Given the description of an element on the screen output the (x, y) to click on. 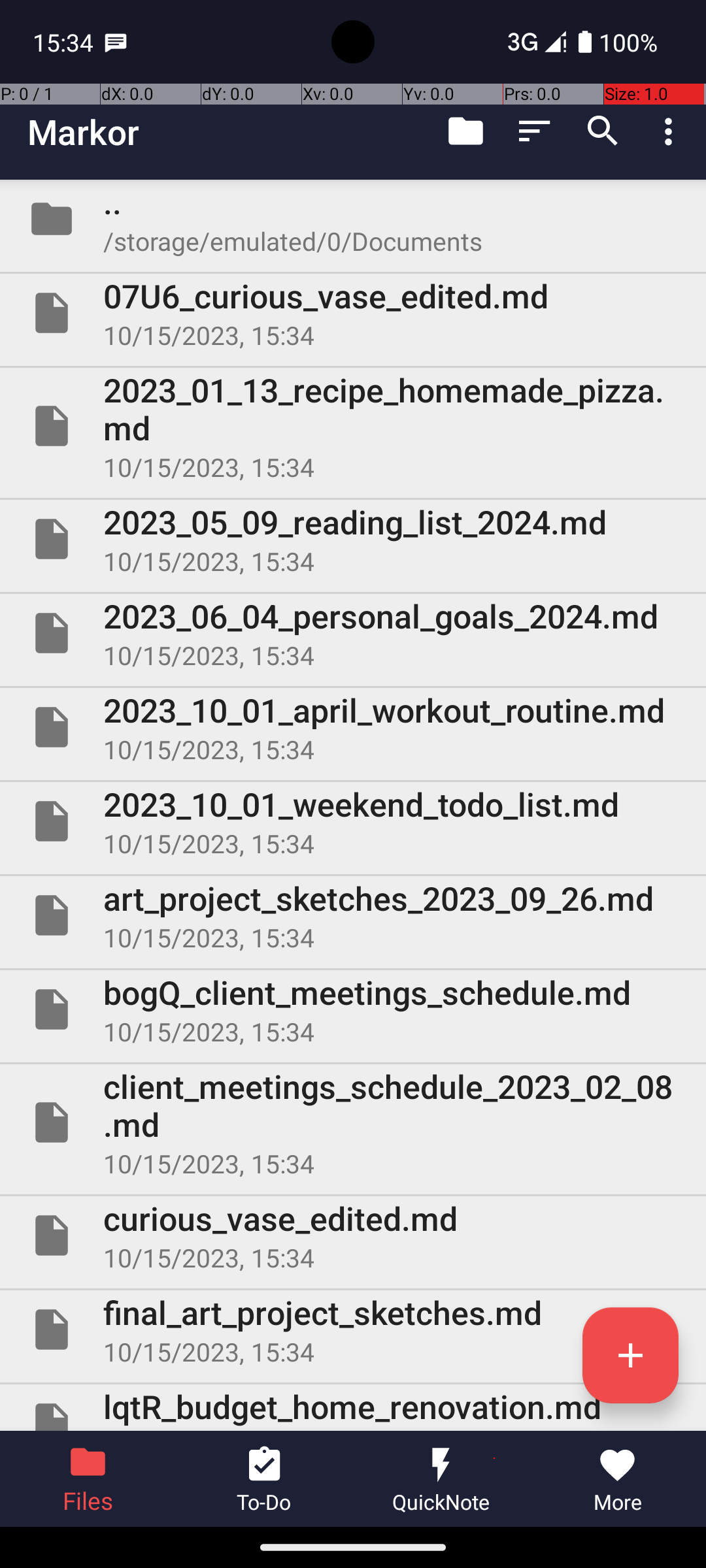
Create a new file or folder Element type: android.widget.ImageButton (630, 1355)
Go to Element type: android.widget.TextView (465, 131)
Sort by Element type: android.widget.TextView (534, 131)
To-Do Element type: android.widget.FrameLayout (264, 1478)
QuickNote Element type: android.widget.FrameLayout (441, 1478)
More Element type: android.widget.FrameLayout (617, 1478)
Folder ..  Element type: android.widget.LinearLayout (353, 218)
File 07U6_curious_vase_edited.md  Element type: android.widget.LinearLayout (353, 312)
File 2023_01_13_recipe_homemade_pizza.md  Element type: android.widget.LinearLayout (353, 425)
File 2023_05_09_reading_list_2024.md  Element type: android.widget.LinearLayout (353, 538)
File 2023_06_04_personal_goals_2024.md  Element type: android.widget.LinearLayout (353, 632)
File 2023_10_01_april_workout_routine.md  Element type: android.widget.LinearLayout (353, 726)
File 2023_10_01_weekend_todo_list.md  Element type: android.widget.LinearLayout (353, 821)
File art_project_sketches_2023_09_26.md  Element type: android.widget.LinearLayout (353, 915)
File bogQ_client_meetings_schedule.md  Element type: android.widget.LinearLayout (353, 1009)
File client_meetings_schedule_2023_02_08.md  Element type: android.widget.LinearLayout (353, 1122)
File curious_vase_edited.md  Element type: android.widget.LinearLayout (353, 1235)
File final_art_project_sketches.md  Element type: android.widget.LinearLayout (353, 1329)
File lqtR_budget_home_renovation.md  Element type: android.widget.LinearLayout (353, 1407)
